Given the description of an element on the screen output the (x, y) to click on. 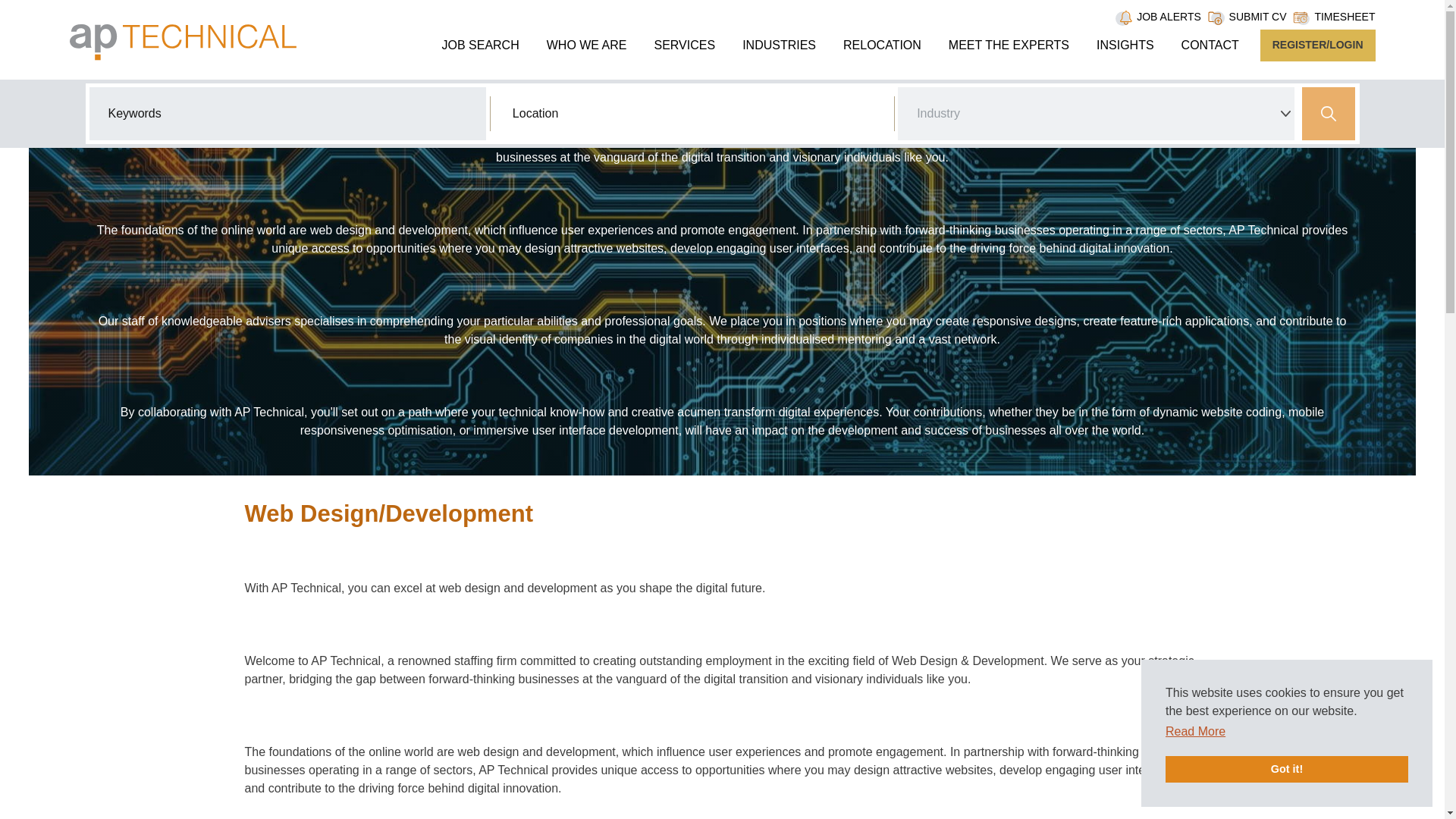
INDUSTRIES (779, 45)
Read More (1195, 731)
JOB ALERTS (1169, 17)
Got it! (1286, 768)
TIMESHEET (1344, 17)
WHO WE ARE (586, 45)
JOB SEARCH (479, 45)
SUBMIT CV (1257, 17)
Search Jobs (1328, 113)
SERVICES (683, 45)
